Given the description of an element on the screen output the (x, y) to click on. 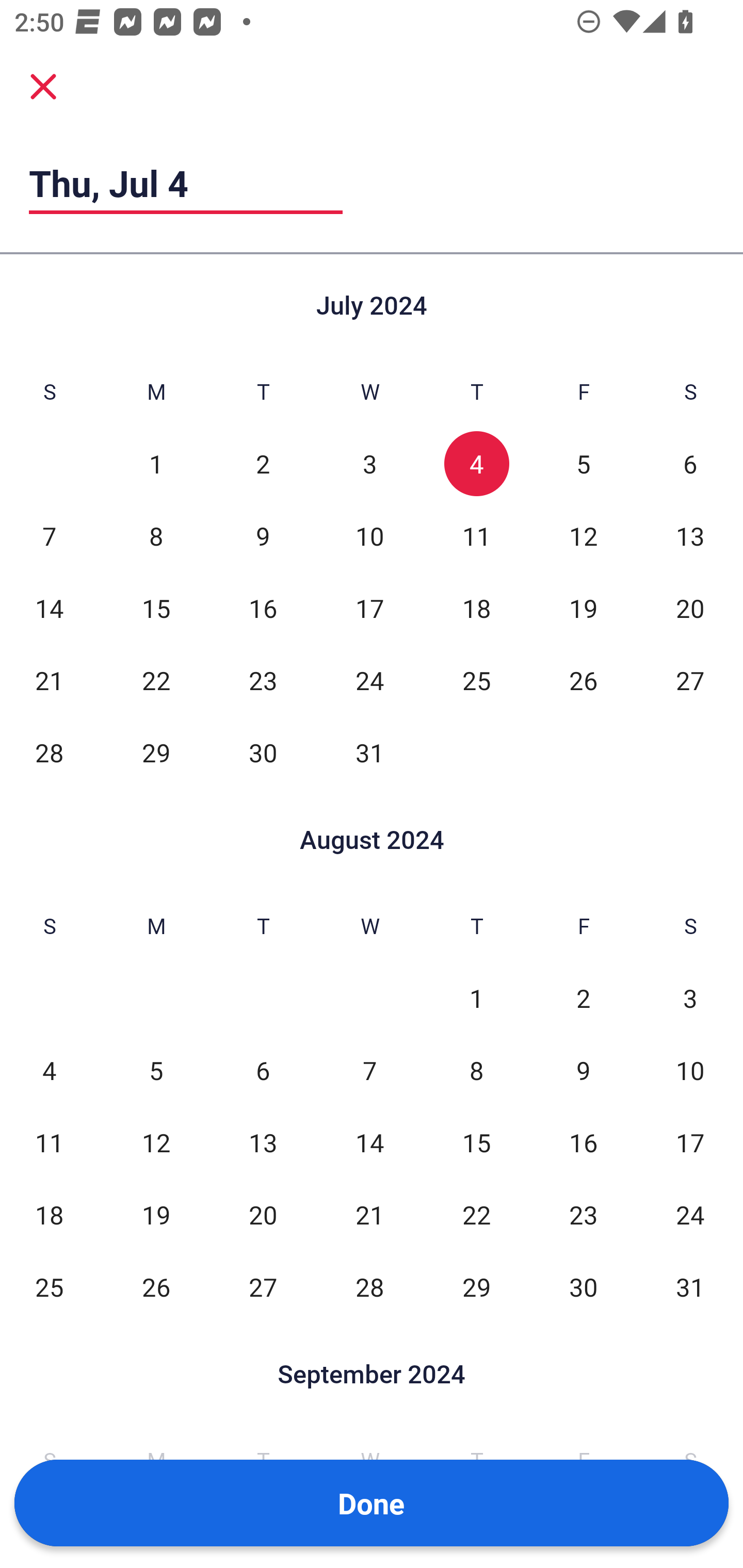
Cancel (43, 86)
Thu, Jul 4 (185, 182)
1 Mon, Jul 1, Not Selected (156, 464)
2 Tue, Jul 2, Not Selected (263, 464)
3 Wed, Jul 3, Not Selected (369, 464)
4 Thu, Jul 4, Selected (476, 464)
5 Fri, Jul 5, Not Selected (583, 464)
6 Sat, Jul 6, Not Selected (690, 464)
7 Sun, Jul 7, Not Selected (49, 536)
8 Mon, Jul 8, Not Selected (156, 536)
9 Tue, Jul 9, Not Selected (263, 536)
10 Wed, Jul 10, Not Selected (369, 536)
11 Thu, Jul 11, Not Selected (476, 536)
12 Fri, Jul 12, Not Selected (583, 536)
13 Sat, Jul 13, Not Selected (690, 536)
14 Sun, Jul 14, Not Selected (49, 608)
15 Mon, Jul 15, Not Selected (156, 608)
16 Tue, Jul 16, Not Selected (263, 608)
17 Wed, Jul 17, Not Selected (369, 608)
18 Thu, Jul 18, Not Selected (476, 608)
19 Fri, Jul 19, Not Selected (583, 608)
20 Sat, Jul 20, Not Selected (690, 608)
21 Sun, Jul 21, Not Selected (49, 680)
22 Mon, Jul 22, Not Selected (156, 680)
23 Tue, Jul 23, Not Selected (263, 680)
24 Wed, Jul 24, Not Selected (369, 680)
25 Thu, Jul 25, Not Selected (476, 680)
26 Fri, Jul 26, Not Selected (583, 680)
27 Sat, Jul 27, Not Selected (690, 680)
28 Sun, Jul 28, Not Selected (49, 752)
29 Mon, Jul 29, Not Selected (156, 752)
30 Tue, Jul 30, Not Selected (263, 752)
31 Wed, Jul 31, Not Selected (369, 752)
1 Thu, Aug 1, Not Selected (476, 997)
2 Fri, Aug 2, Not Selected (583, 997)
3 Sat, Aug 3, Not Selected (690, 997)
4 Sun, Aug 4, Not Selected (49, 1070)
5 Mon, Aug 5, Not Selected (156, 1070)
6 Tue, Aug 6, Not Selected (263, 1070)
7 Wed, Aug 7, Not Selected (369, 1070)
8 Thu, Aug 8, Not Selected (476, 1070)
9 Fri, Aug 9, Not Selected (583, 1070)
10 Sat, Aug 10, Not Selected (690, 1070)
11 Sun, Aug 11, Not Selected (49, 1143)
12 Mon, Aug 12, Not Selected (156, 1143)
13 Tue, Aug 13, Not Selected (263, 1143)
14 Wed, Aug 14, Not Selected (369, 1143)
15 Thu, Aug 15, Not Selected (476, 1143)
16 Fri, Aug 16, Not Selected (583, 1143)
17 Sat, Aug 17, Not Selected (690, 1143)
18 Sun, Aug 18, Not Selected (49, 1215)
19 Mon, Aug 19, Not Selected (156, 1215)
20 Tue, Aug 20, Not Selected (263, 1215)
21 Wed, Aug 21, Not Selected (369, 1215)
22 Thu, Aug 22, Not Selected (476, 1215)
23 Fri, Aug 23, Not Selected (583, 1215)
24 Sat, Aug 24, Not Selected (690, 1215)
25 Sun, Aug 25, Not Selected (49, 1287)
26 Mon, Aug 26, Not Selected (156, 1287)
27 Tue, Aug 27, Not Selected (263, 1287)
28 Wed, Aug 28, Not Selected (369, 1287)
29 Thu, Aug 29, Not Selected (476, 1287)
30 Fri, Aug 30, Not Selected (583, 1287)
31 Sat, Aug 31, Not Selected (690, 1287)
Done Button Done (371, 1502)
